Given the description of an element on the screen output the (x, y) to click on. 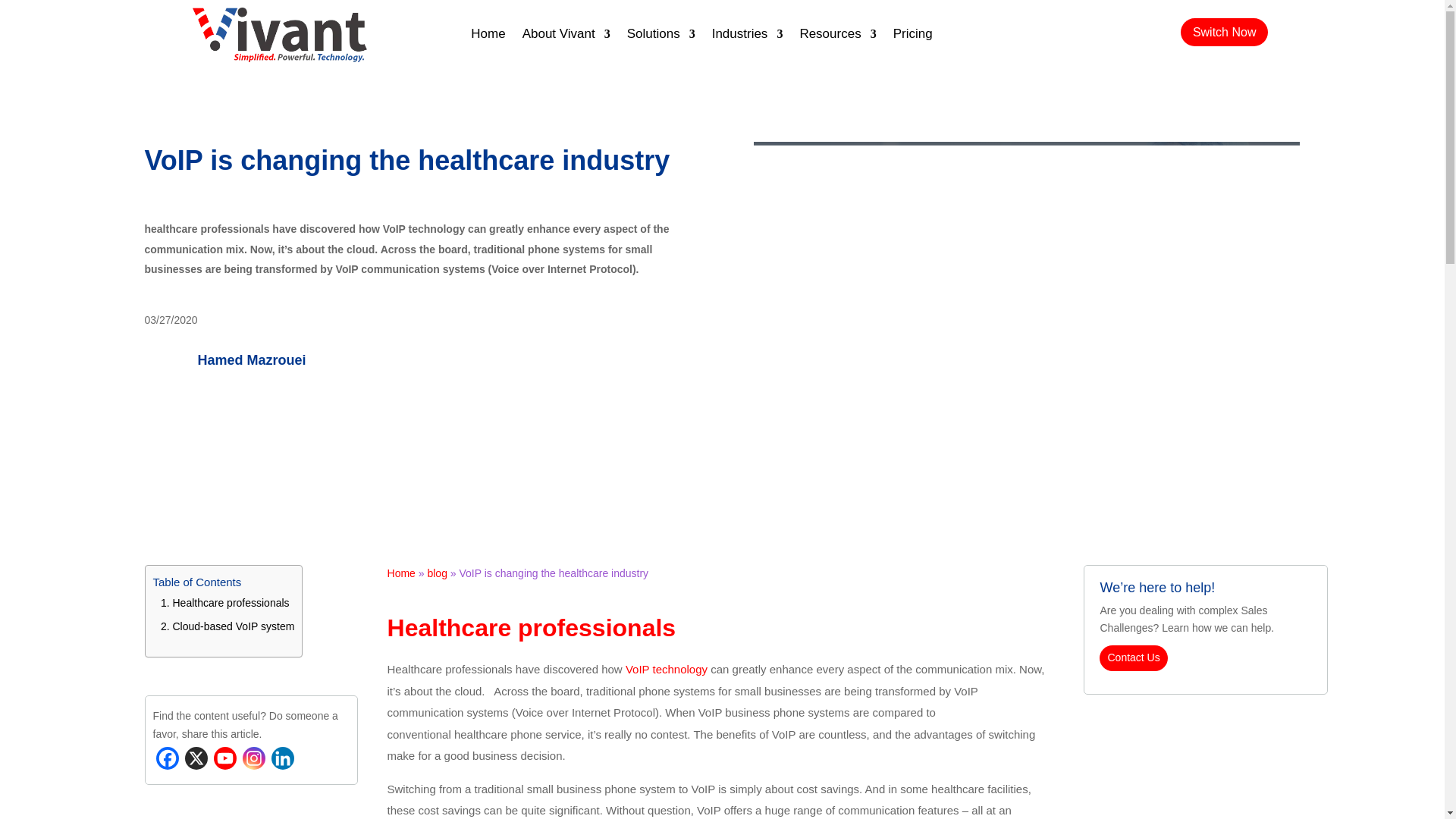
Cloud-based VoIP system (234, 625)
Healthcare professionals (231, 603)
Youtube (225, 758)
Cloud-based VoIP system (234, 625)
Pricing (913, 36)
Healthcare professionals (231, 603)
Resources (837, 36)
Industries (747, 36)
Instagram (253, 758)
